Given the description of an element on the screen output the (x, y) to click on. 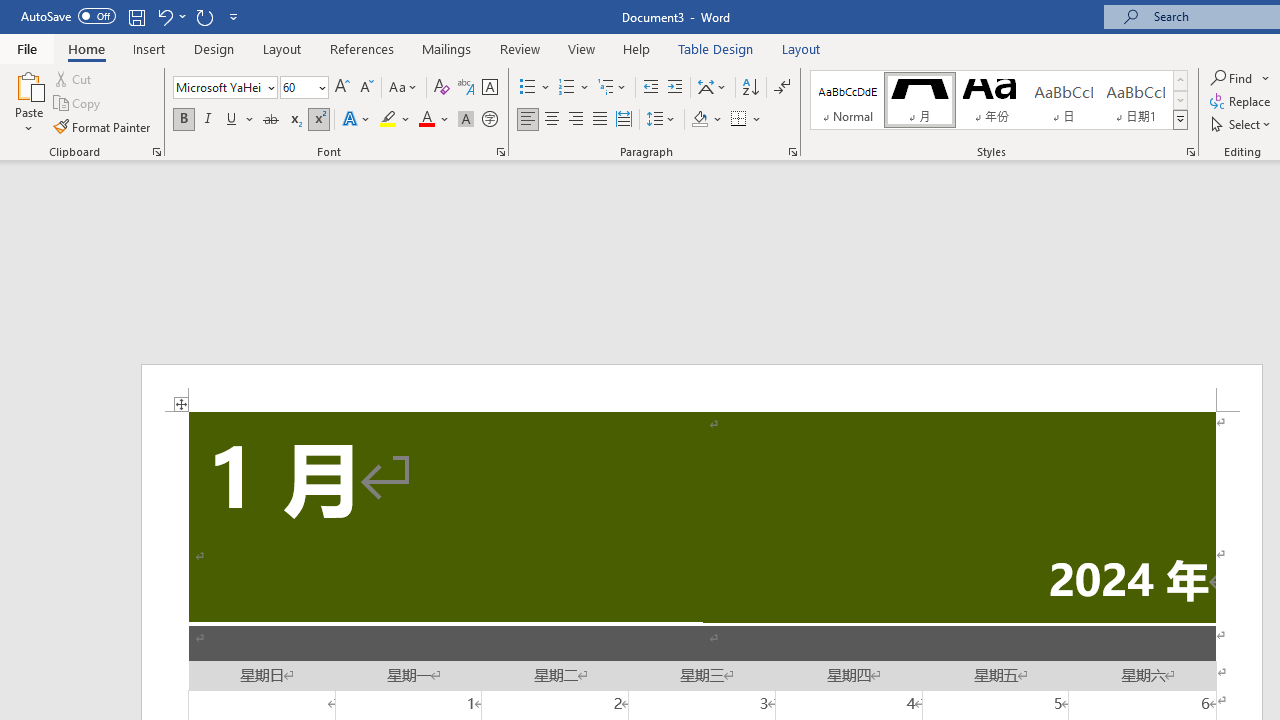
Borders (746, 119)
Font Color RGB(255, 0, 0) (426, 119)
